Given the description of an element on the screen output the (x, y) to click on. 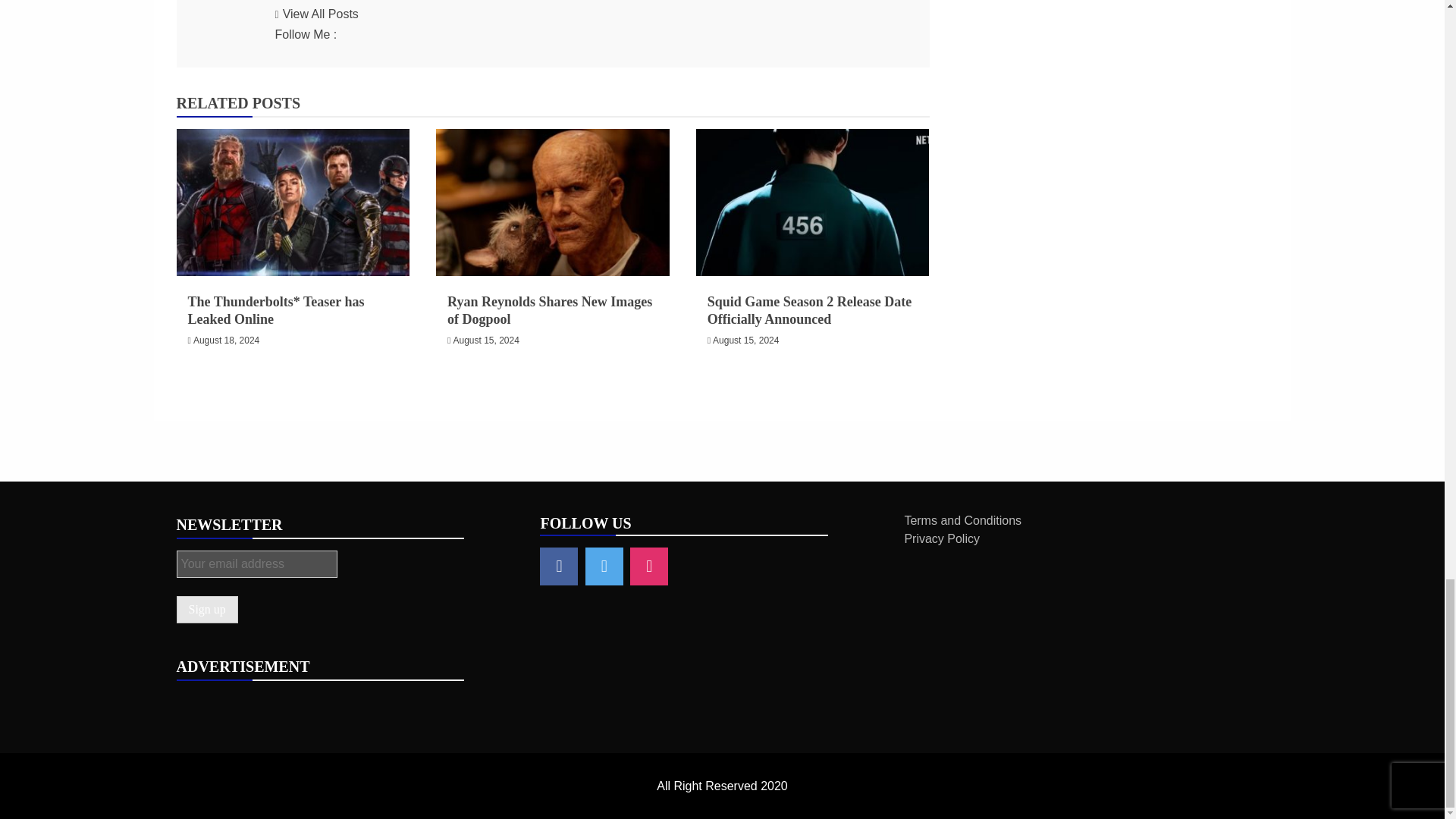
Ryan Reynolds Shares New Images of Dogpool 3 (552, 201)
Squid Game Season 2 Release Date Officially Announced 4 (812, 201)
Sign up (206, 609)
